Given the description of an element on the screen output the (x, y) to click on. 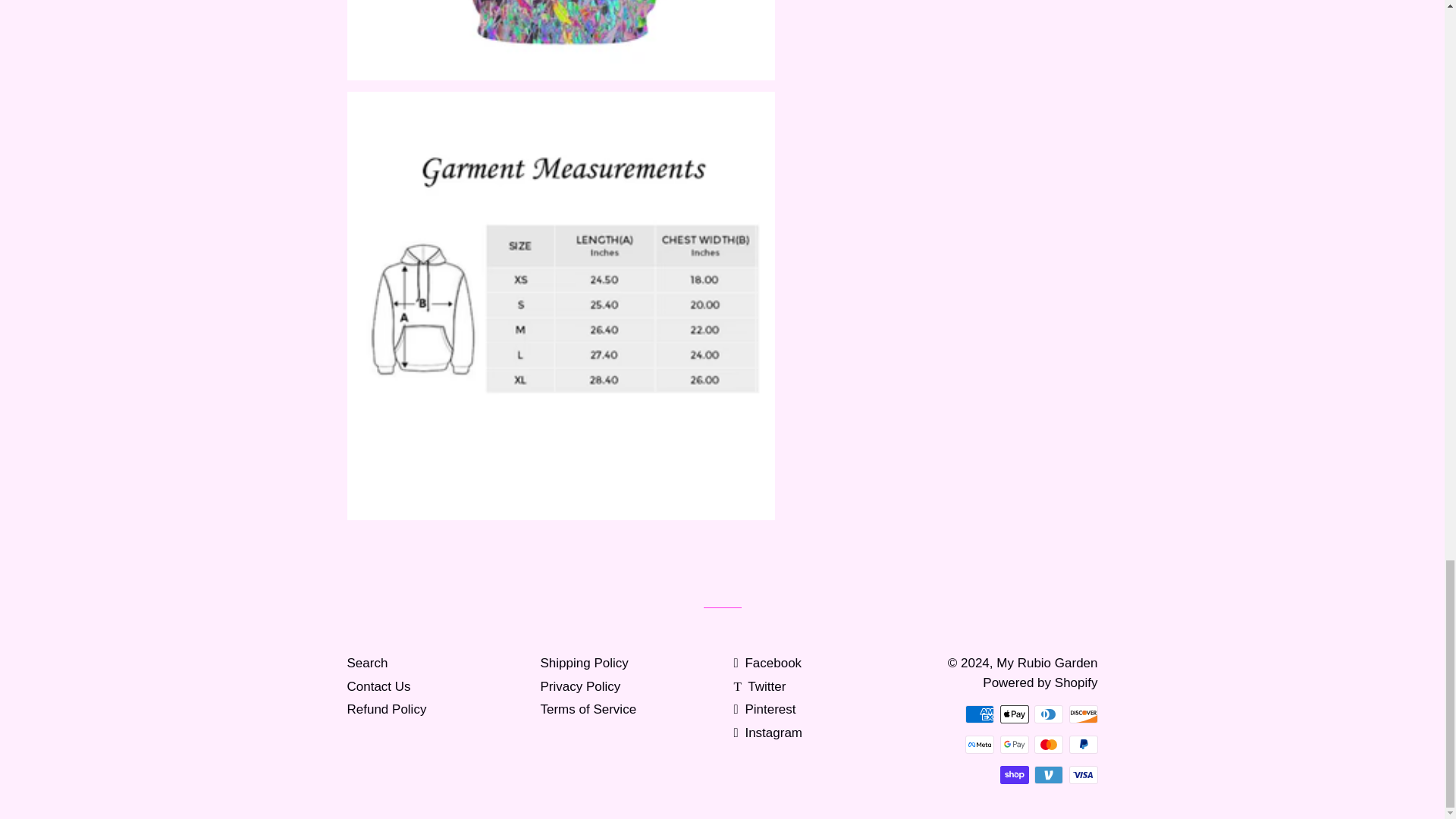
American Express (979, 714)
My Rubio Garden on Twitter (759, 686)
Shop Pay (1012, 774)
My Rubio Garden on Facebook (767, 663)
Google Pay (1012, 744)
PayPal (1082, 744)
Mastercard (1047, 744)
Visa (1082, 774)
Apple Pay (1012, 714)
My Rubio Garden on Pinterest (764, 708)
